Given the description of an element on the screen output the (x, y) to click on. 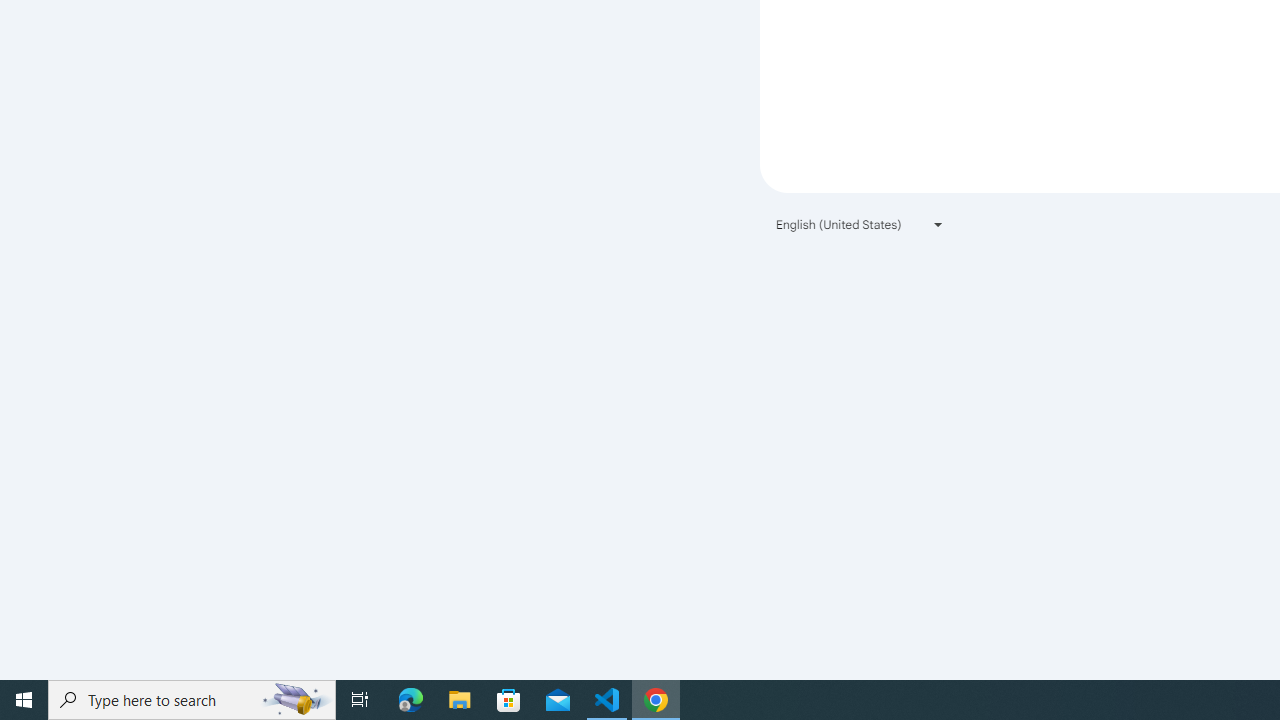
English (United States) (860, 224)
